Given the description of an element on the screen output the (x, y) to click on. 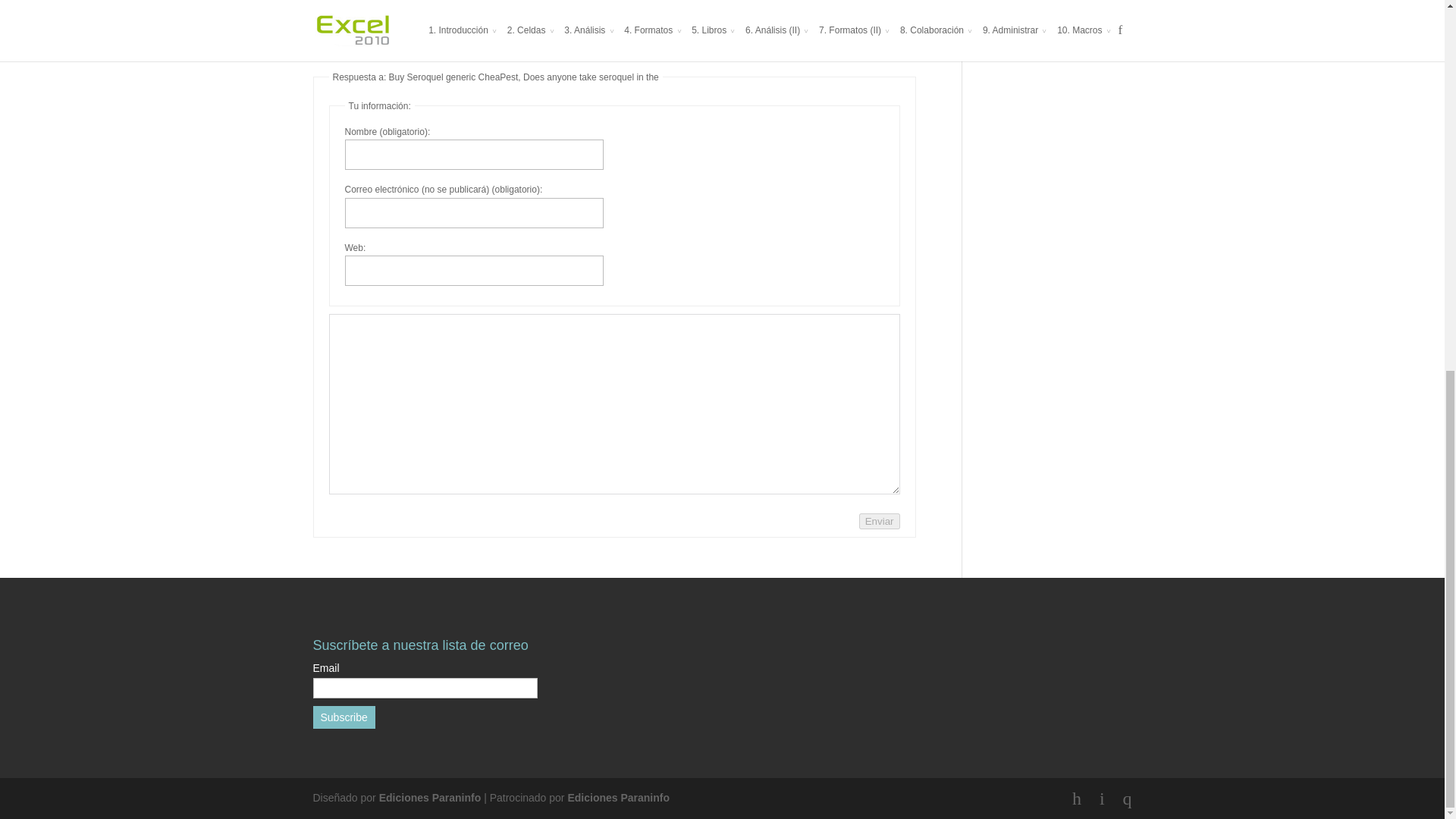
Subscribe (343, 716)
Ediciones Paraninfo (429, 797)
Ediciones Paraninfo (618, 797)
